Given the description of an element on the screen output the (x, y) to click on. 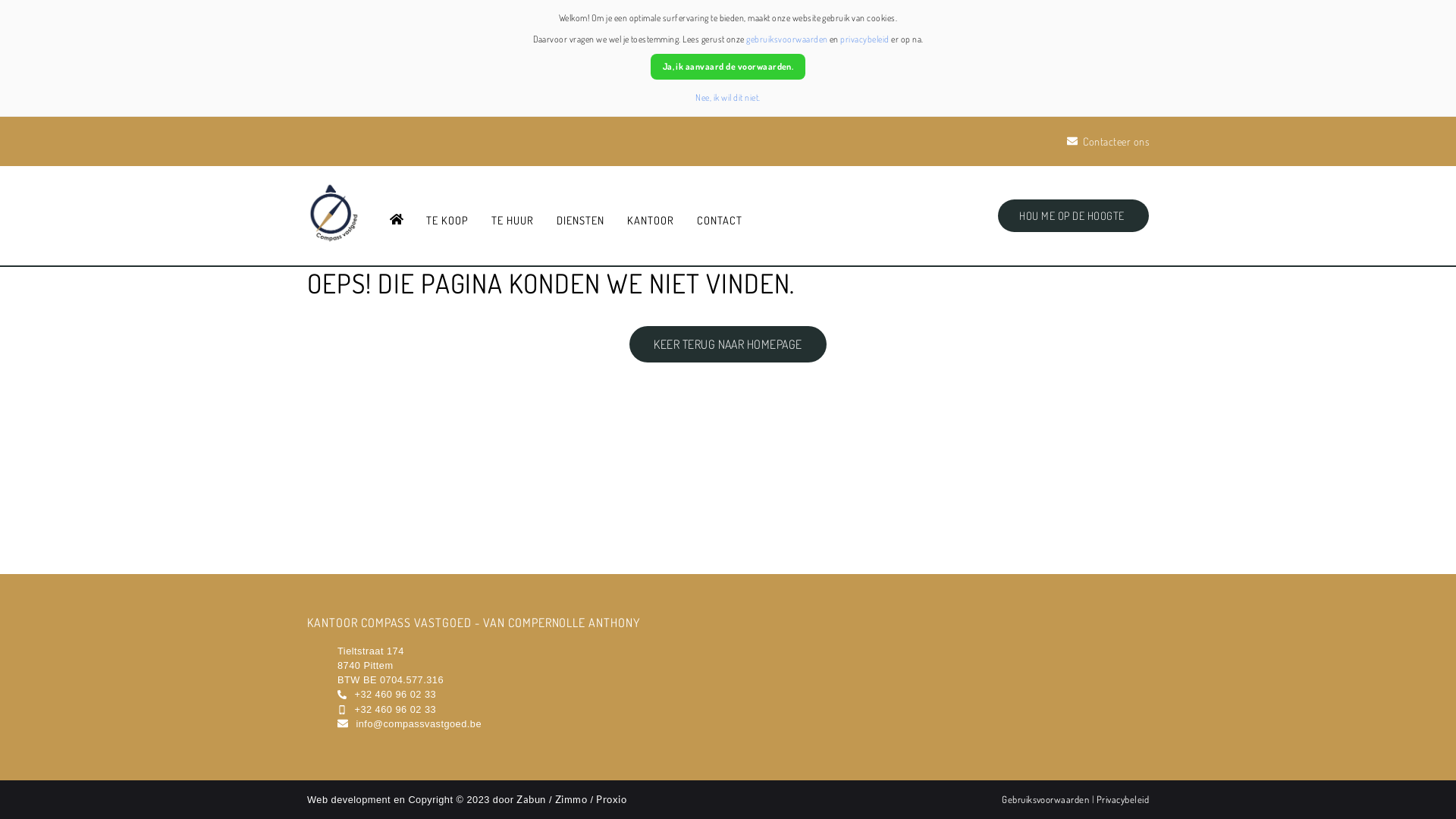
HOU ME OP DE HOOGTE Element type: text (1072, 215)
KANTOOR Element type: text (650, 220)
DIENSTEN Element type: text (580, 220)
Contacteer ons Element type: text (1107, 140)
Ja, ik aanvaard de voorwaarden. Element type: text (728, 66)
Nee, ik wil dit niet. Element type: text (727, 97)
Zimmo Element type: text (570, 799)
TE KOOP Element type: text (447, 220)
CONTACT Element type: text (719, 220)
privacybeleid Element type: text (864, 38)
info@compassvastgoed.be Element type: text (418, 723)
TE HUUR Element type: text (512, 220)
HOME Element type: text (396, 220)
Gebruiksvoorwaarden Element type: text (1046, 799)
KEER TERUG NAAR HOMEPAGE Element type: text (727, 344)
Zabun Element type: text (530, 799)
Proxio Element type: text (611, 799)
gebruiksvoorwaarden Element type: text (786, 38)
Privacybeleid Element type: text (1122, 799)
